Given the description of an element on the screen output the (x, y) to click on. 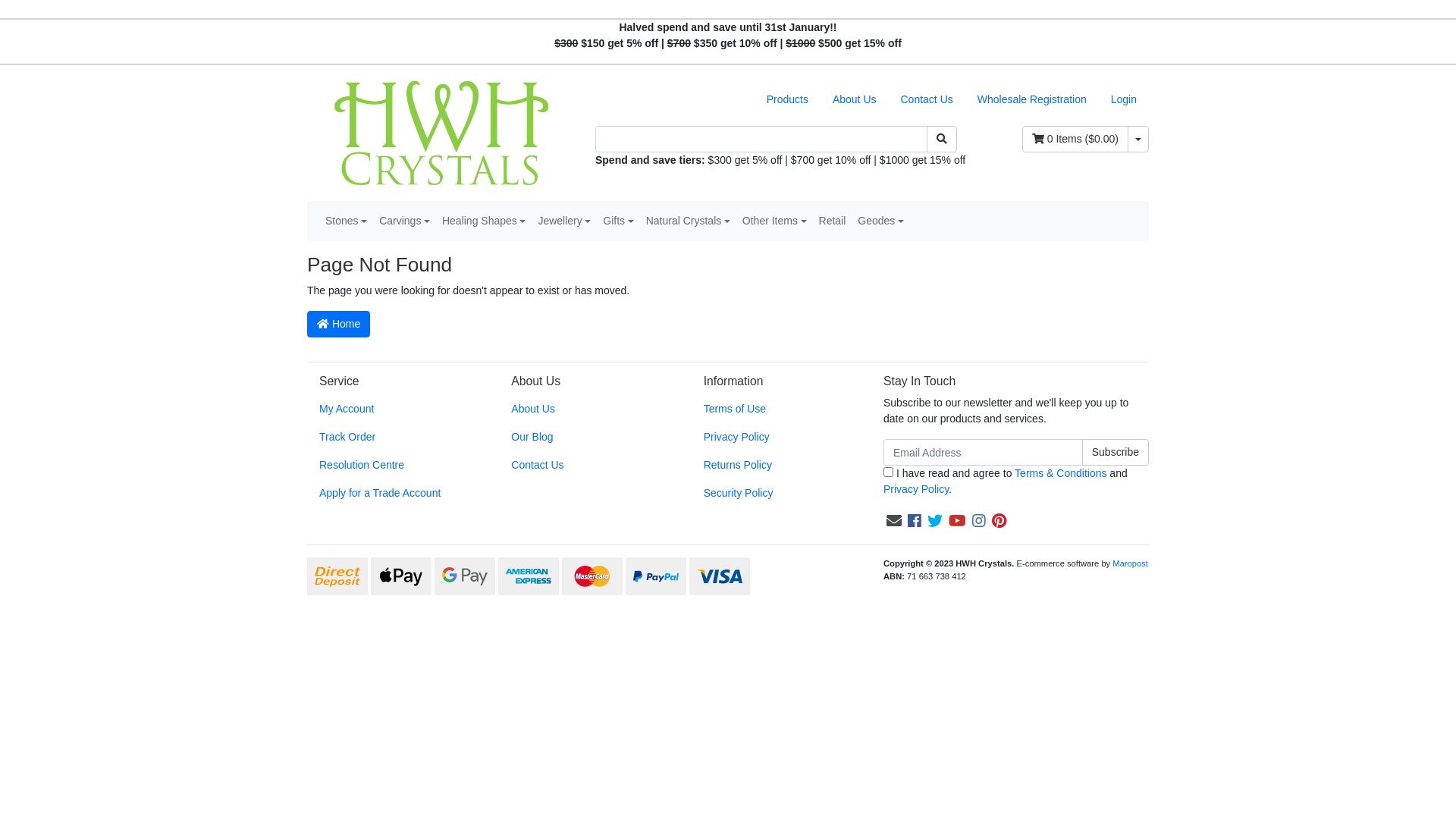
Resolution Centre Element type: text (391, 465)
About Us Element type: text (854, 99)
Contact Us Element type: text (926, 99)
Geodes Element type: text (880, 221)
Twitter Element type: text (934, 520)
Stones Element type: text (346, 221)
Contact Us Element type: text (583, 465)
Products Element type: text (787, 99)
Toggle Dropdown Element type: text (1137, 138)
Apply for a Trade Account Element type: text (391, 493)
Jewellery Element type: text (563, 221)
Youtube Element type: text (957, 520)
0 Items ($0.00) Element type: text (1075, 138)
Healing Shapes Element type: text (483, 221)
Gifts Element type: text (617, 221)
Other Items Element type: text (774, 221)
Carvings Element type: text (404, 221)
Terms of Use Element type: text (775, 409)
Email us Element type: hover (893, 520)
Maropost Element type: text (1130, 562)
Track Order Element type: text (391, 437)
Subscribe Element type: text (1115, 452)
Security Policy Element type: text (775, 493)
Returns Policy Element type: text (775, 465)
Our Blog Element type: text (583, 437)
Privacy Policy Element type: text (775, 437)
Facebook Element type: text (914, 520)
Natural Crystals Element type: text (688, 221)
Login Element type: text (1123, 99)
HWH Crystals Element type: hover (439, 131)
Wholesale Registration Element type: text (1031, 99)
My Account Element type: text (391, 409)
Search Element type: text (941, 138)
Instagram Element type: text (978, 520)
About Us Element type: text (583, 409)
Terms & Conditions Element type: text (1060, 473)
Home Element type: text (338, 323)
Pinterest Element type: text (998, 520)
Privacy Policy Element type: text (915, 489)
Retail Element type: text (832, 221)
